Given the description of an element on the screen output the (x, y) to click on. 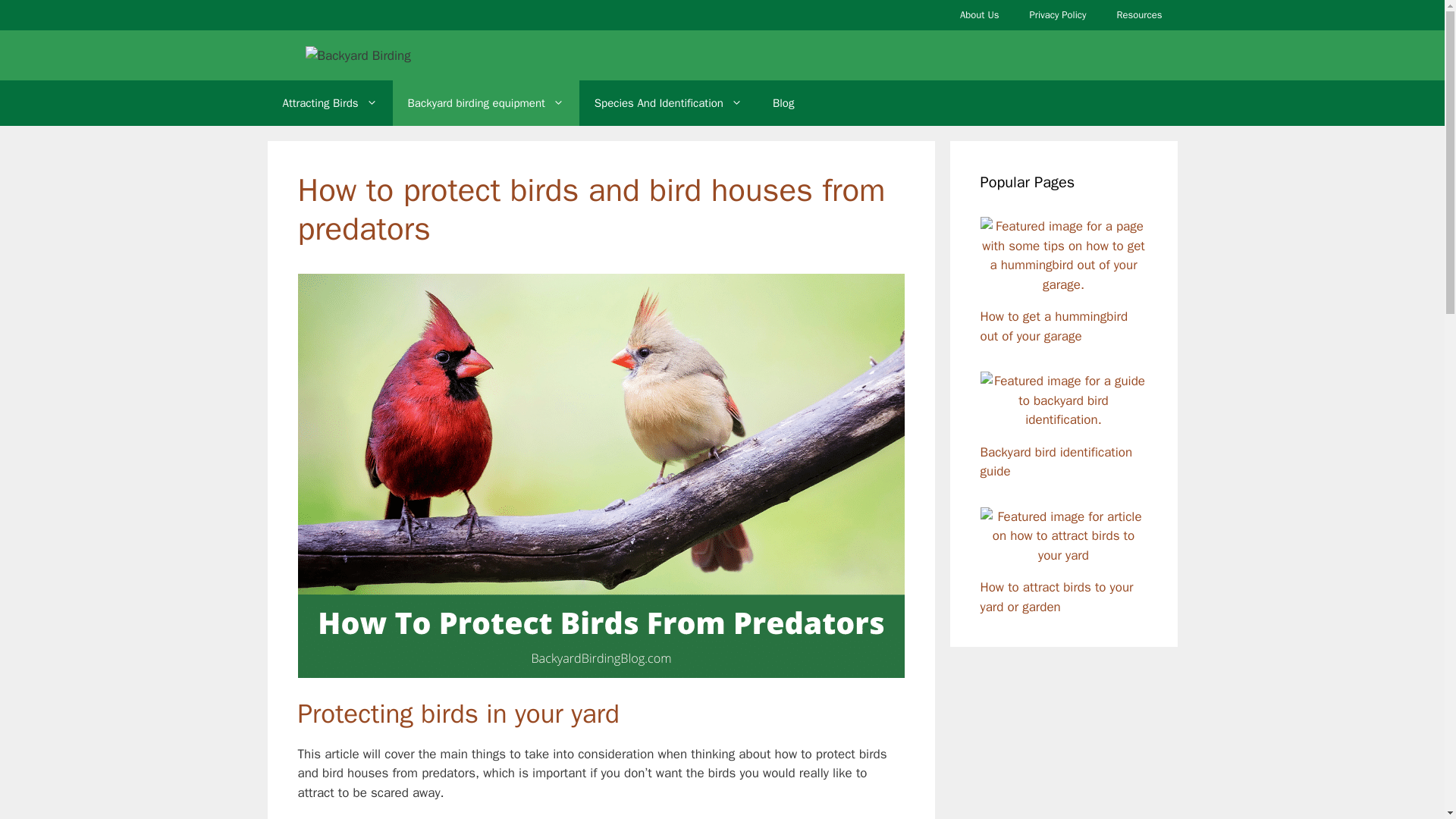
Blog (783, 103)
How to attract birds to your yard or garden (1055, 597)
Resources (1139, 15)
Backyard bird identification guide (1055, 461)
Backyard birding equipment (486, 103)
Privacy Policy (1056, 15)
Backyard bird identification guide (1063, 419)
About Us (978, 15)
How to get a hummingbird out of your garage (1052, 325)
How to get a hummingbird out of your garage (1063, 284)
Attracting Birds (328, 103)
How to attract birds to your yard or garden (1063, 555)
Species And Identification (668, 103)
